Given the description of an element on the screen output the (x, y) to click on. 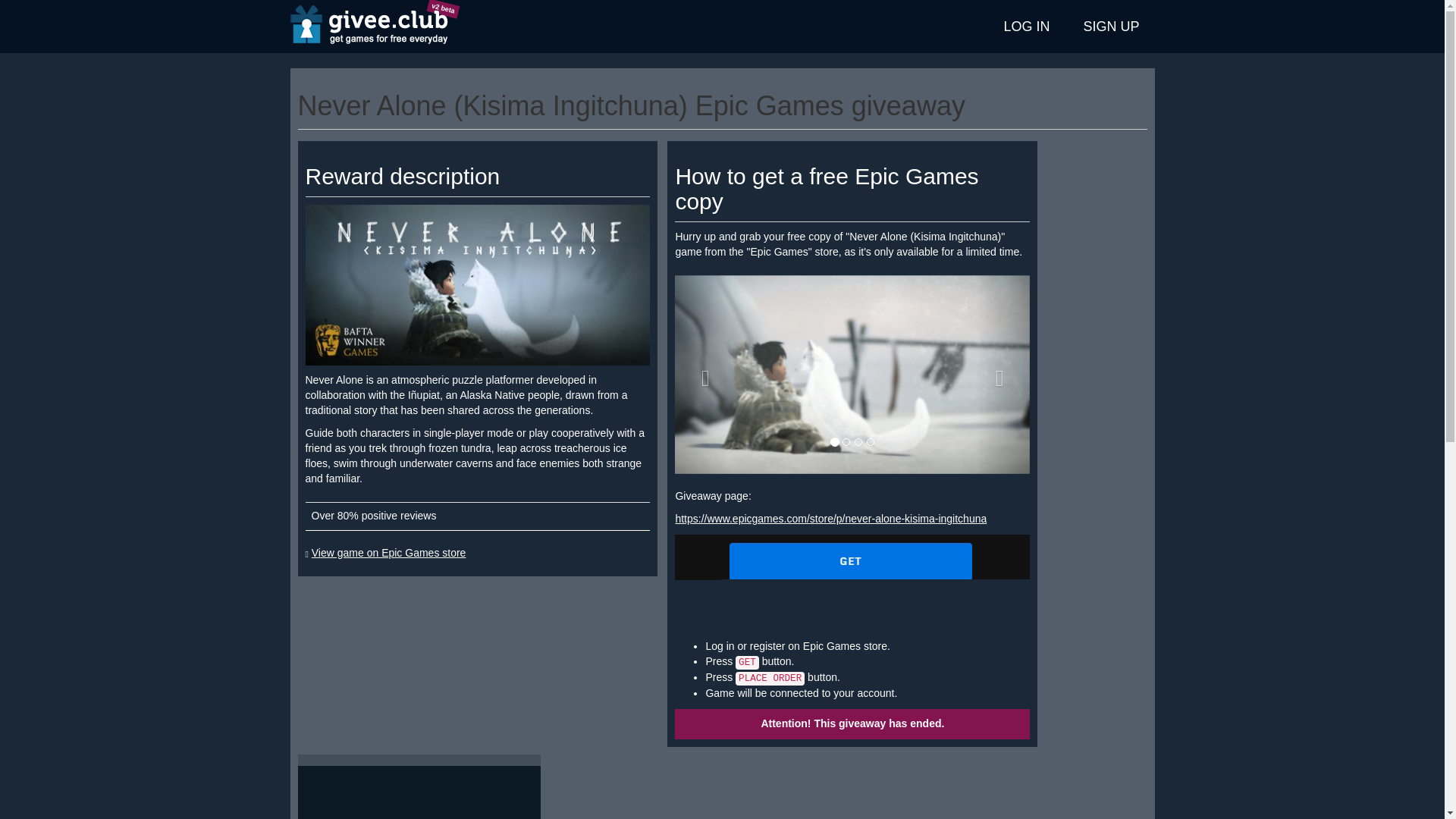
v2 beta (368, 26)
View game on Epic Games store (388, 552)
LOG IN (1026, 26)
SIGN UP (1110, 26)
Advertisement (418, 792)
